Given the description of an element on the screen output the (x, y) to click on. 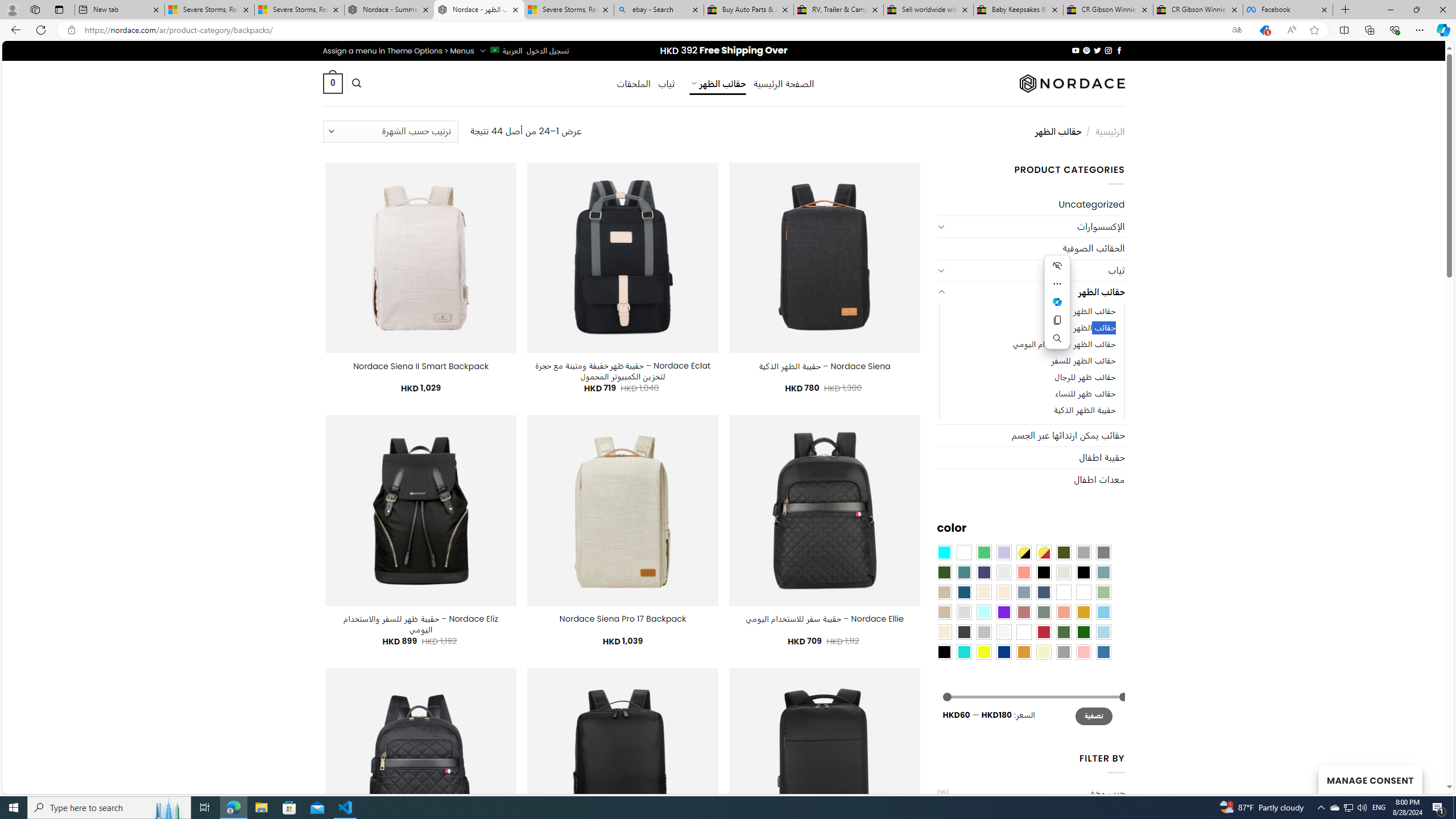
This site has coupons! Shopping in Microsoft Edge, 5 (1263, 29)
Light-Gray (963, 611)
Light Taupe (944, 611)
Baby Keepsakes & Announcements for sale | eBay (1018, 9)
Follow on Twitter (1096, 50)
